Given the description of an element on the screen output the (x, y) to click on. 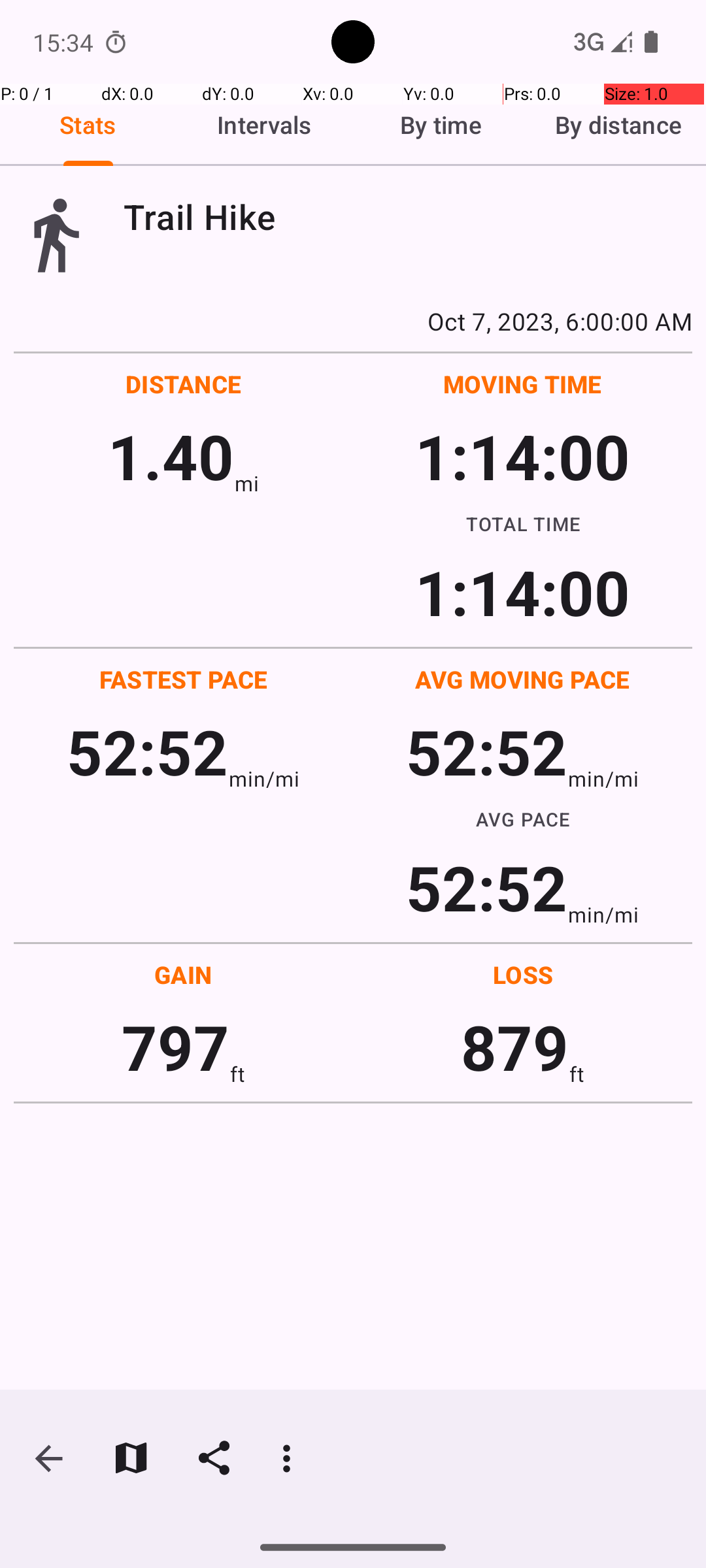
Trail Hike Element type: android.widget.TextView (407, 216)
Oct 7, 2023, 6:00:00 AM Element type: android.widget.TextView (352, 320)
1.40 Element type: android.widget.TextView (170, 455)
1:14:00 Element type: android.widget.TextView (522, 455)
52:52 Element type: android.widget.TextView (147, 750)
797 Element type: android.widget.TextView (175, 1045)
879 Element type: android.widget.TextView (514, 1045)
